Given the description of an element on the screen output the (x, y) to click on. 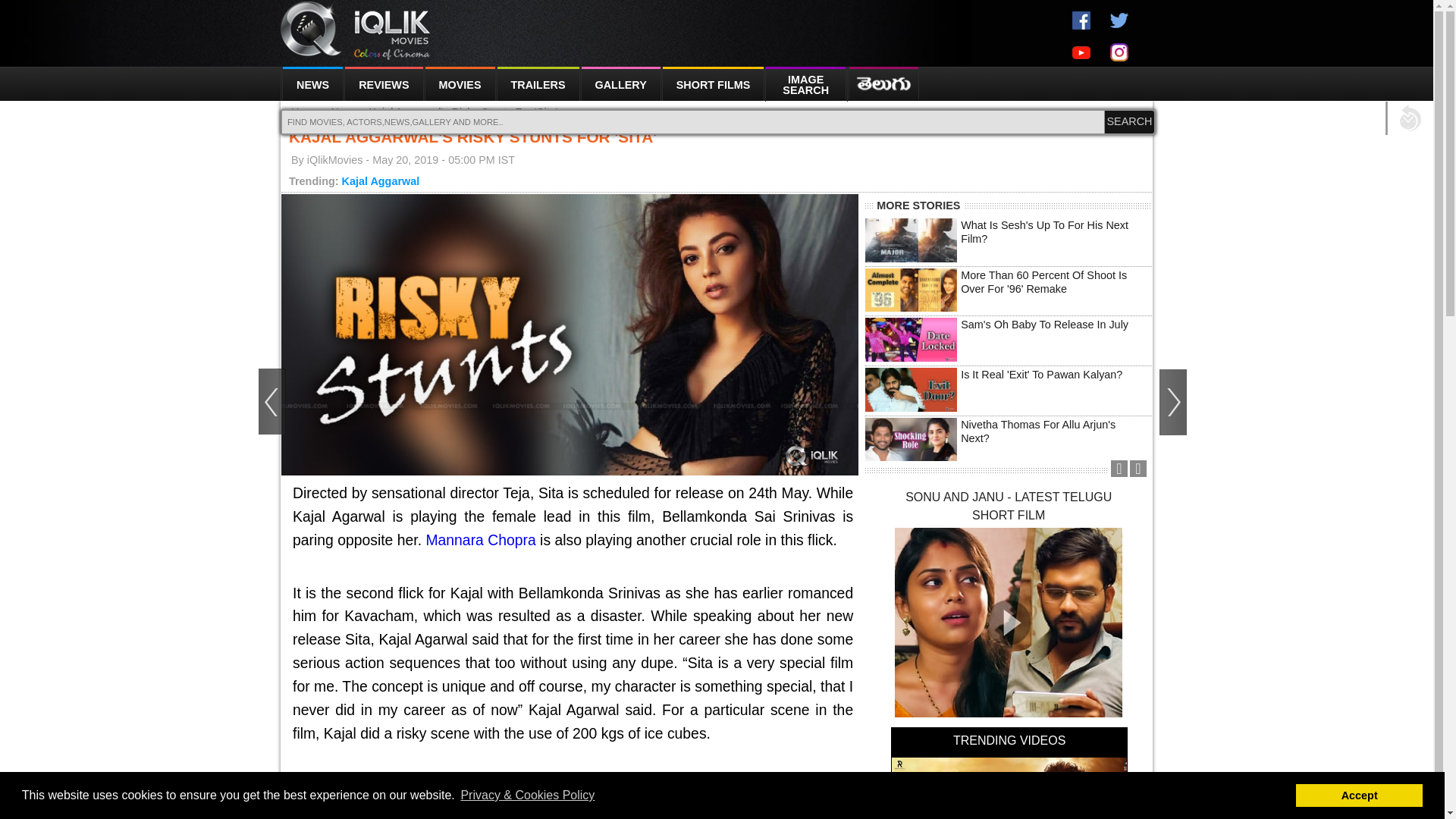
NEWS (311, 83)
Previous (1118, 468)
TRAILERS (538, 83)
iQlik - Home (355, 30)
MOVIES (460, 83)
REVIEWS (383, 83)
Accept (1358, 794)
Next (1138, 468)
